Given the description of an element on the screen output the (x, y) to click on. 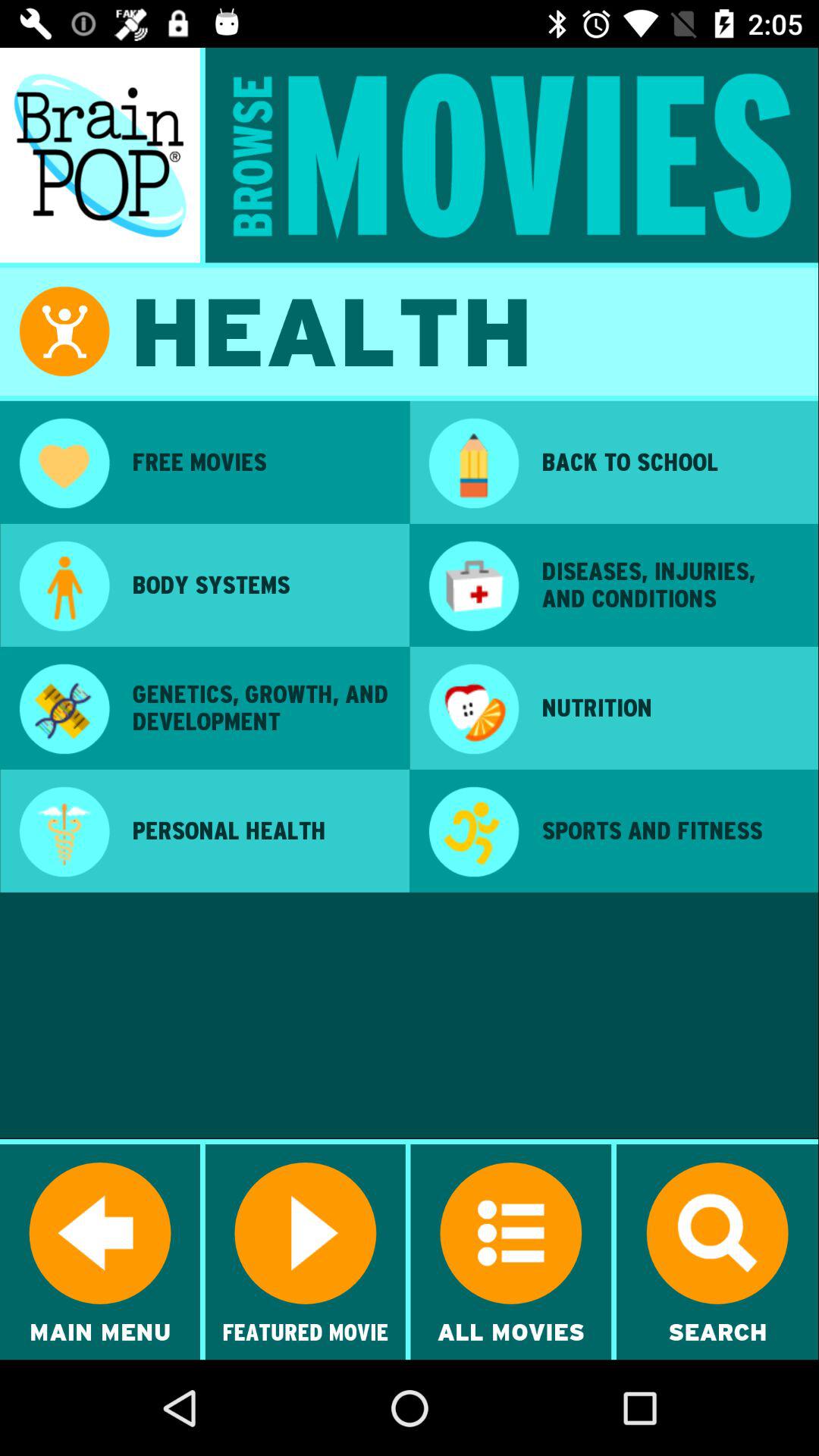
turn on the app next to personal health item (473, 833)
